Given the description of an element on the screen output the (x, y) to click on. 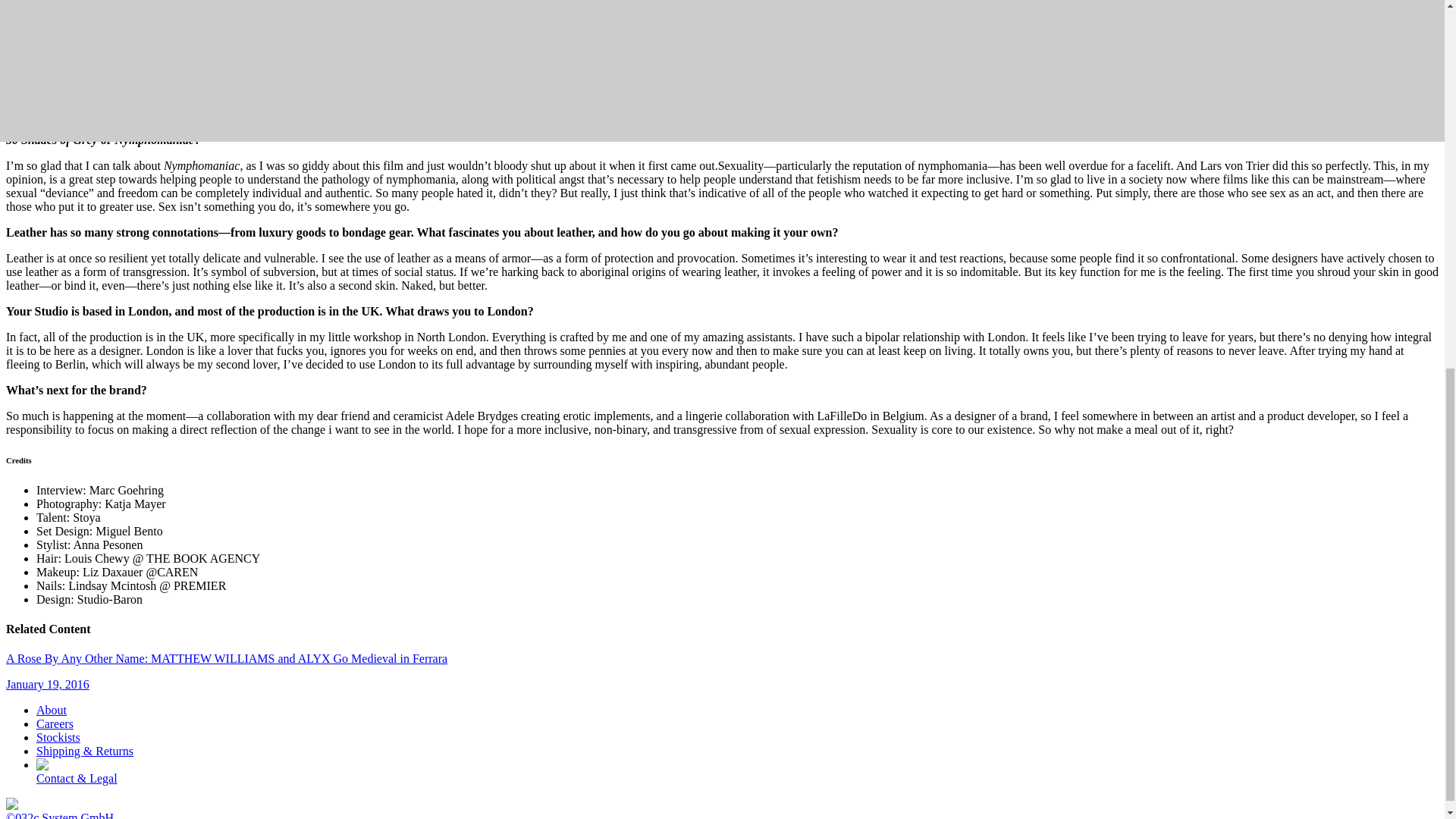
About (51, 709)
Stockists (58, 737)
Careers (55, 723)
